Given the description of an element on the screen output the (x, y) to click on. 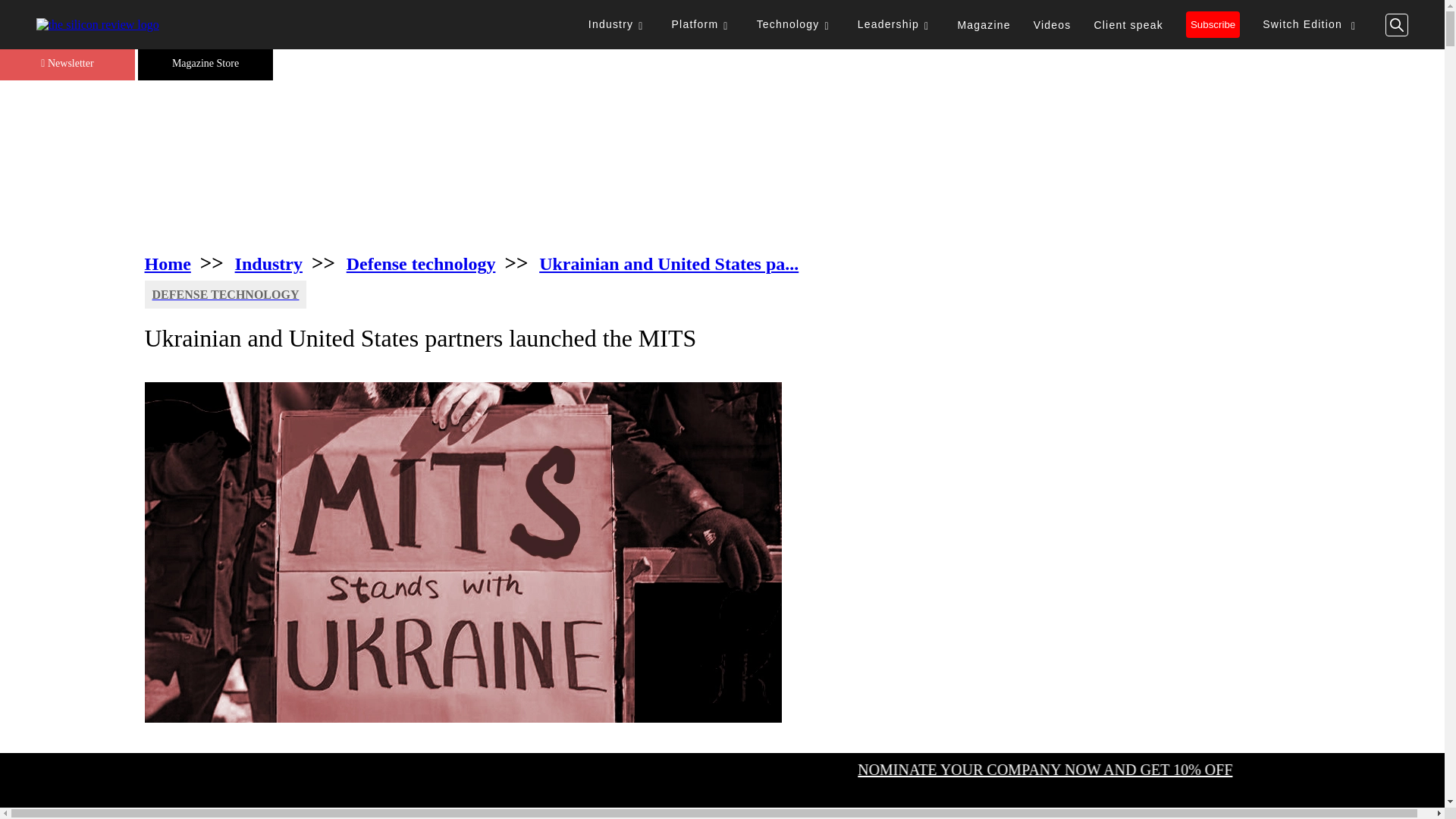
Industry (618, 24)
Advertisement (722, 165)
Platform (703, 24)
